Given the description of an element on the screen output the (x, y) to click on. 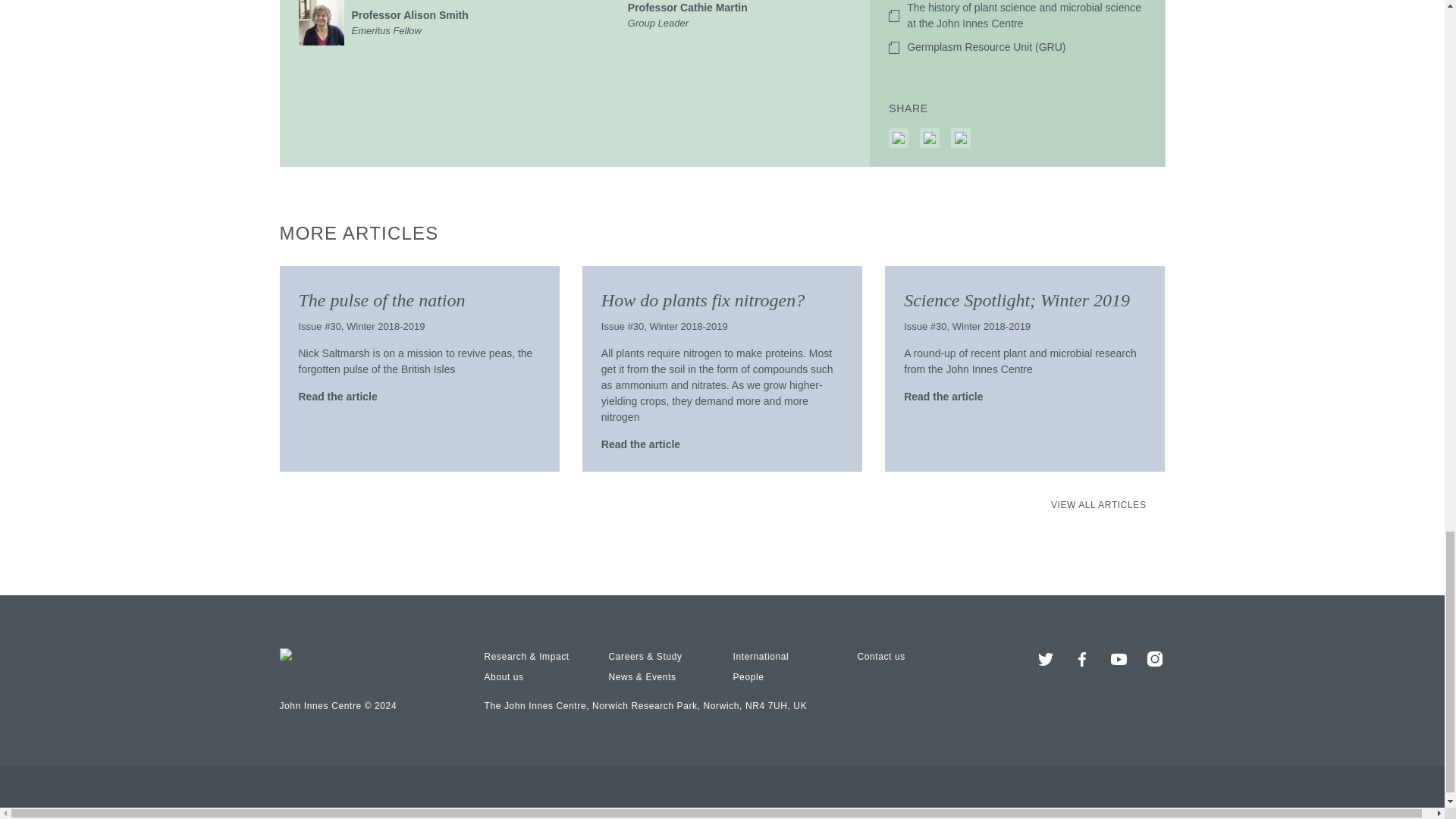
How do plants fix nitrogen? (703, 300)
VIEW ALL ARTICLES (436, 22)
International (1099, 503)
People (760, 655)
Contact us (747, 676)
Science Spotlight; Winter 2019 (880, 655)
About us (1016, 300)
Read the article (712, 15)
Read the article (502, 676)
The pulse of the nation (648, 444)
Read the article (950, 396)
